Given the description of an element on the screen output the (x, y) to click on. 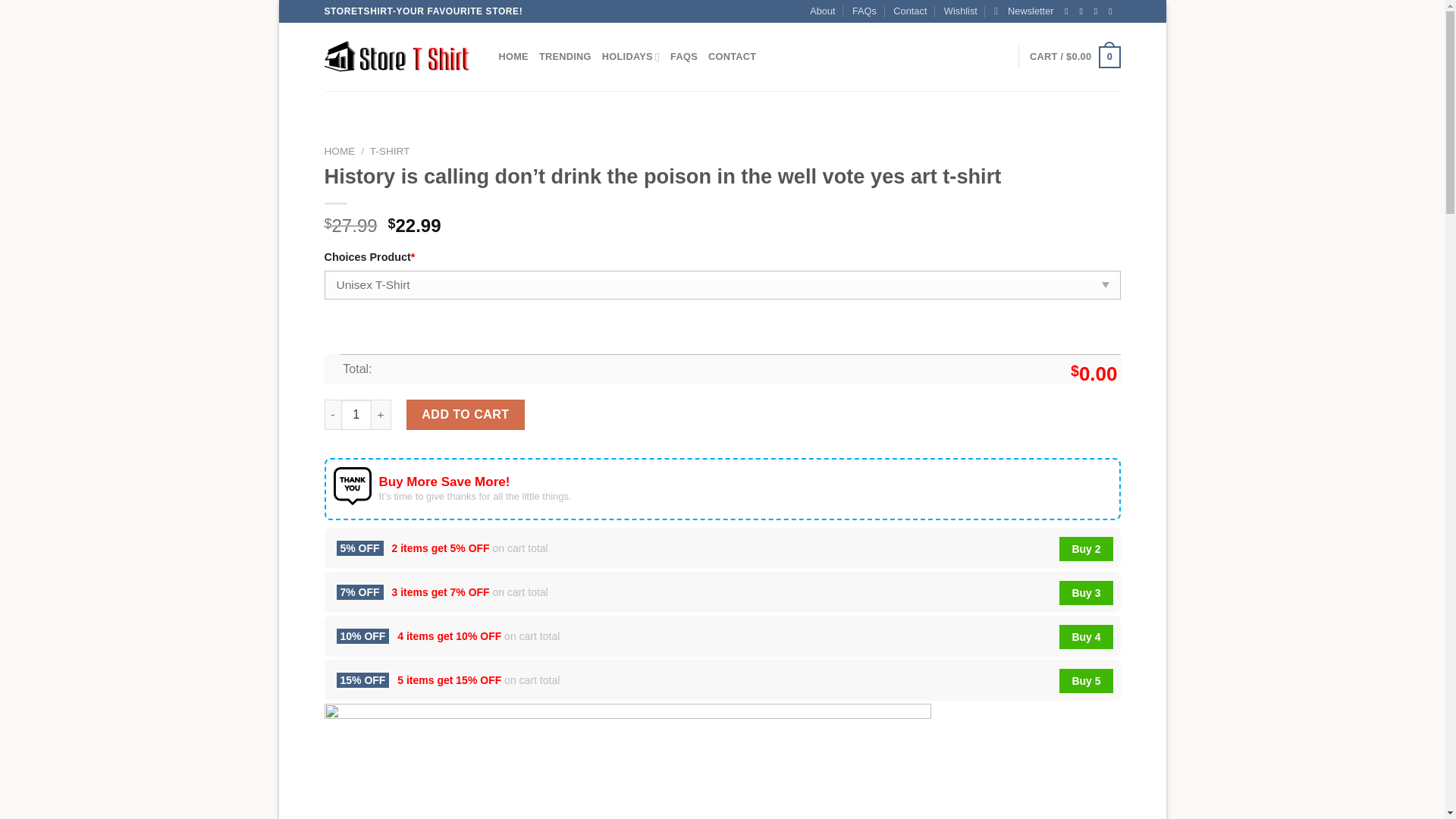
FAQs (863, 11)
T-SHIRT (389, 151)
About (821, 11)
CONTACT (731, 56)
HOME (513, 56)
HOME (339, 151)
TRENDING (564, 56)
Store T-shirt Shopping Online (400, 56)
ADD TO CART (465, 414)
HOLIDAYS (630, 56)
